Given the description of an element on the screen output the (x, y) to click on. 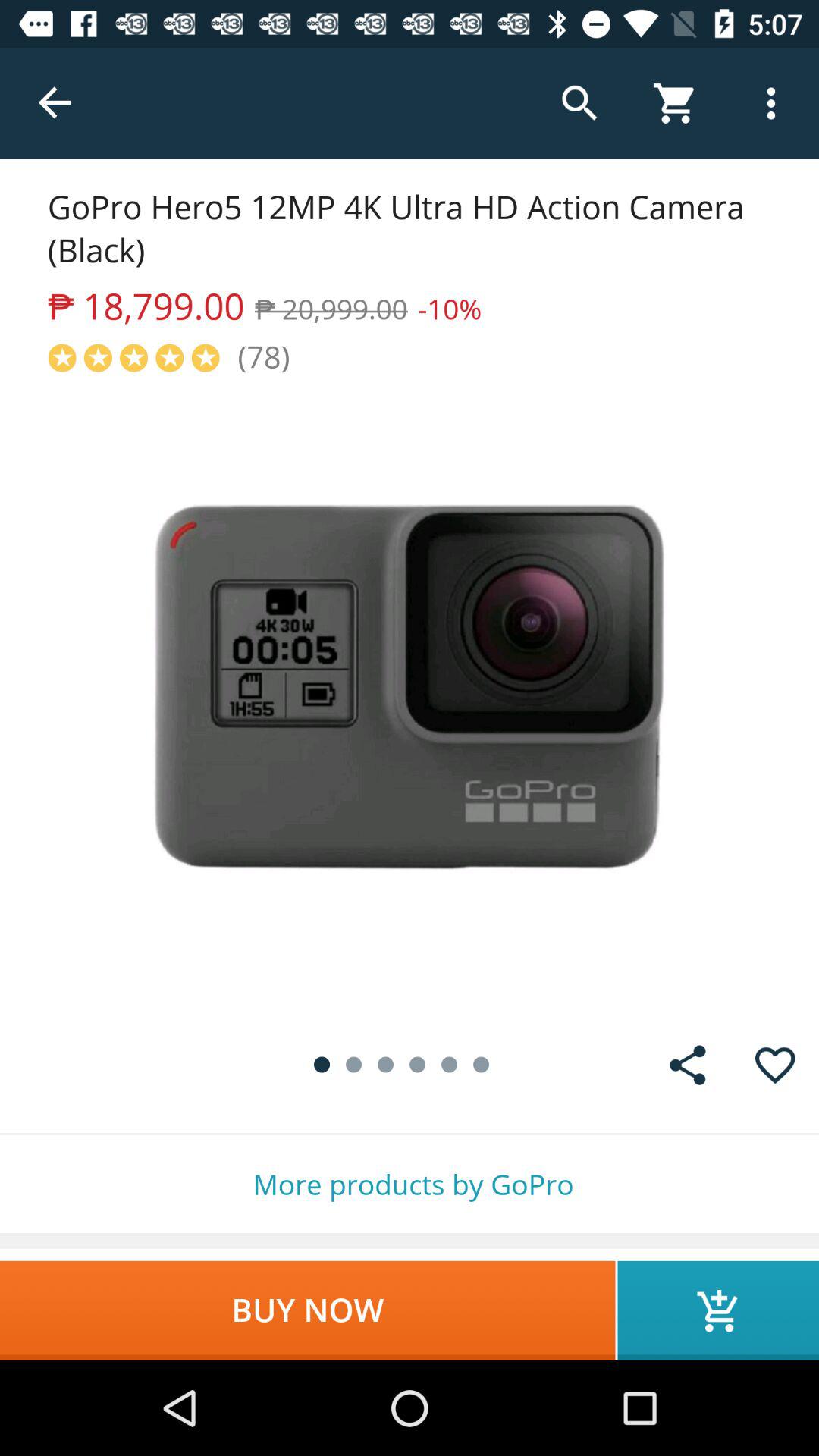
open image (409, 698)
